Given the description of an element on the screen output the (x, y) to click on. 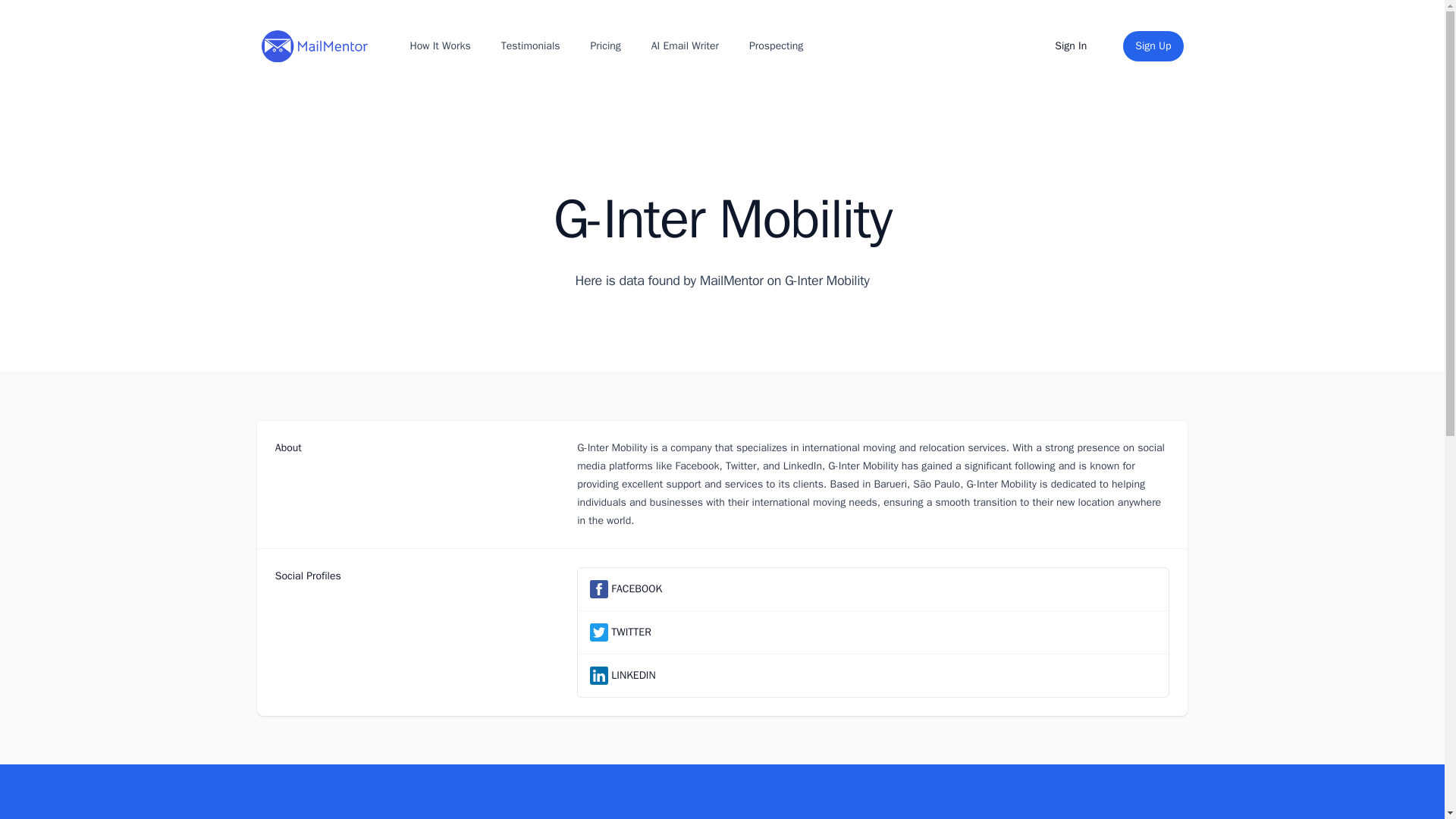
twitter (598, 632)
How It Works (439, 46)
Testimonials (530, 46)
linkedin (598, 675)
AI Email Writer (685, 46)
Prospecting (775, 46)
Sign In (1070, 46)
TWITTER (630, 632)
Sign Up (1152, 46)
LINKEDIN (633, 675)
